Given the description of an element on the screen output the (x, y) to click on. 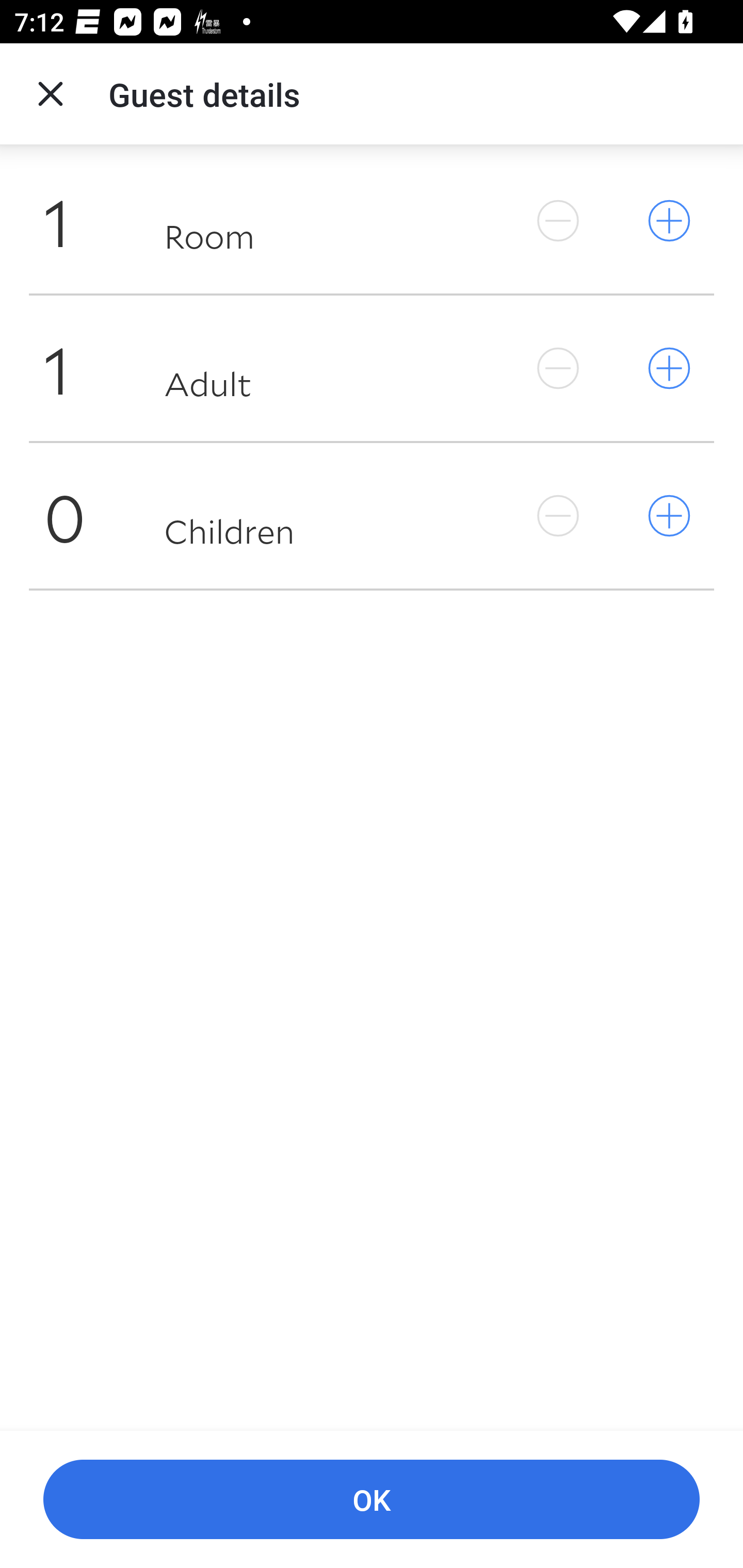
OK (371, 1499)
